Given the description of an element on the screen output the (x, y) to click on. 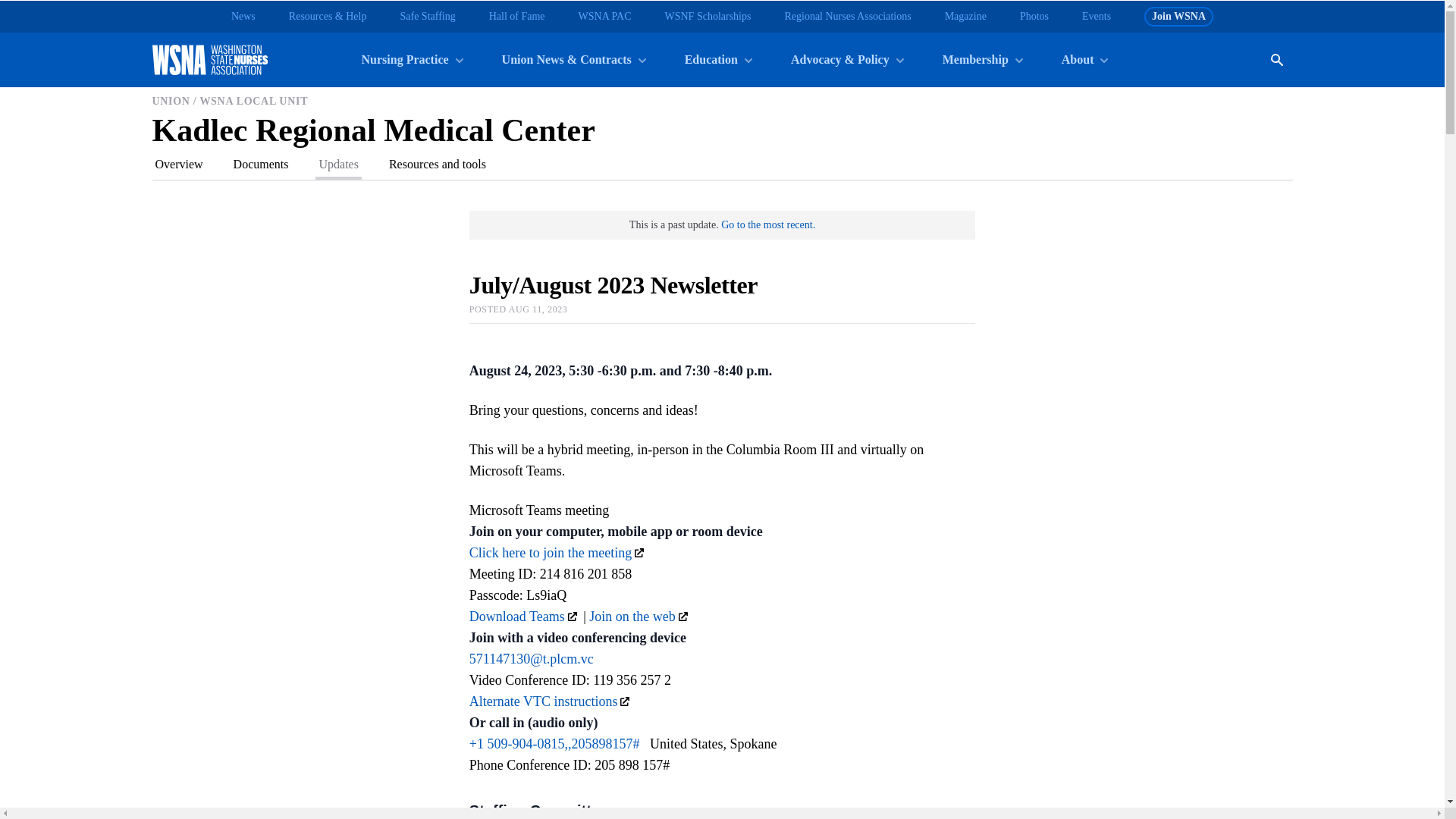
Nursing Practice (410, 59)
Hall of Fame (516, 16)
Education (717, 59)
Join WSNA (1178, 16)
Events (1095, 16)
WSNA PAC (604, 16)
Safe Staffing (426, 16)
News (243, 16)
Photos (1034, 16)
WSNF Scholarships (707, 16)
Magazine (965, 16)
Regional Nurses Associations (847, 16)
